Given the description of an element on the screen output the (x, y) to click on. 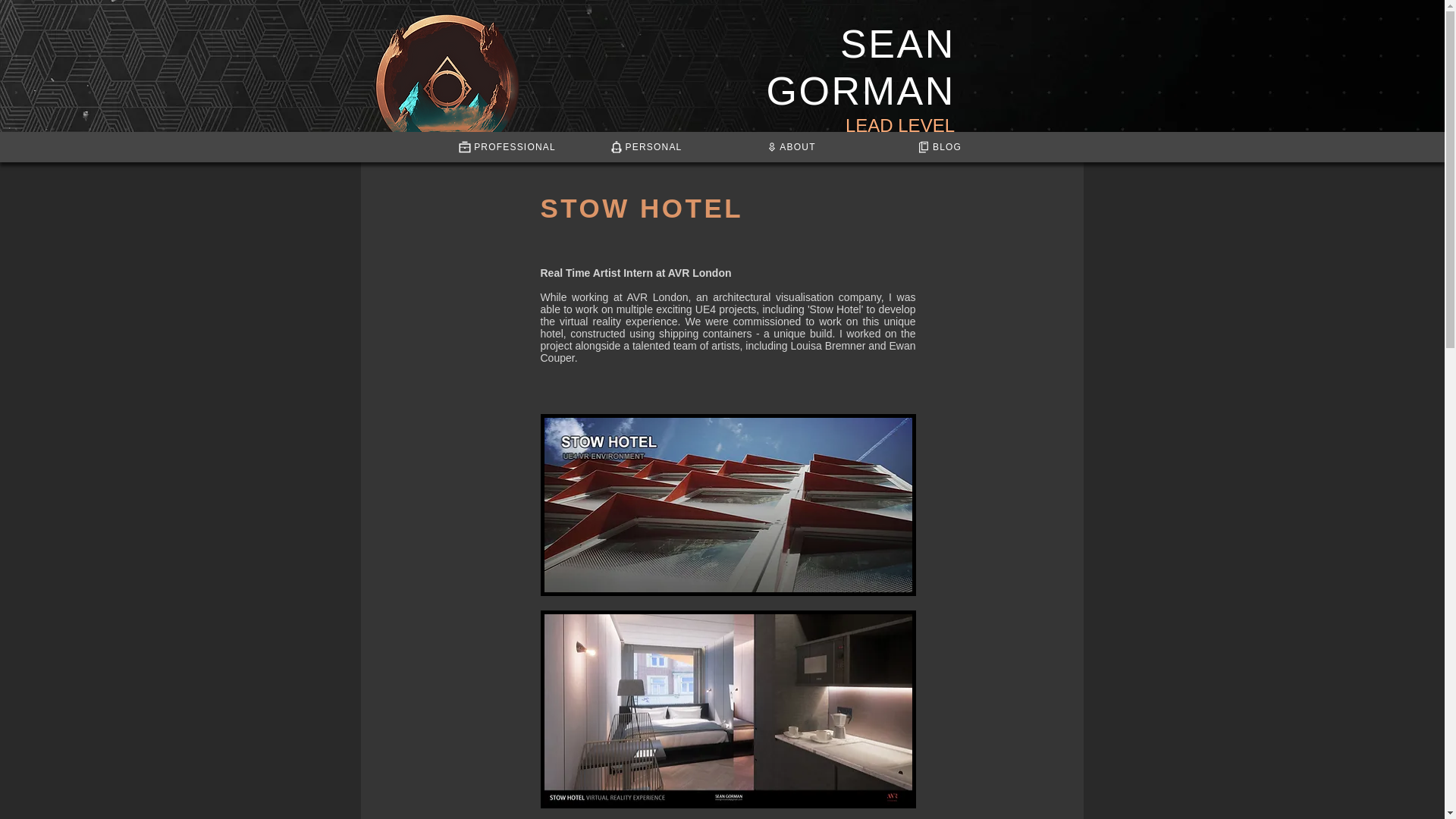
Sean Gorman Environment Artist (446, 85)
ABOUT (791, 146)
LEAD LEVEL DESIGNER (900, 136)
PROFESSIONAL (506, 146)
BLOG (938, 146)
PERSONAL (644, 146)
SEAN GORMAN (860, 67)
